Given the description of an element on the screen output the (x, y) to click on. 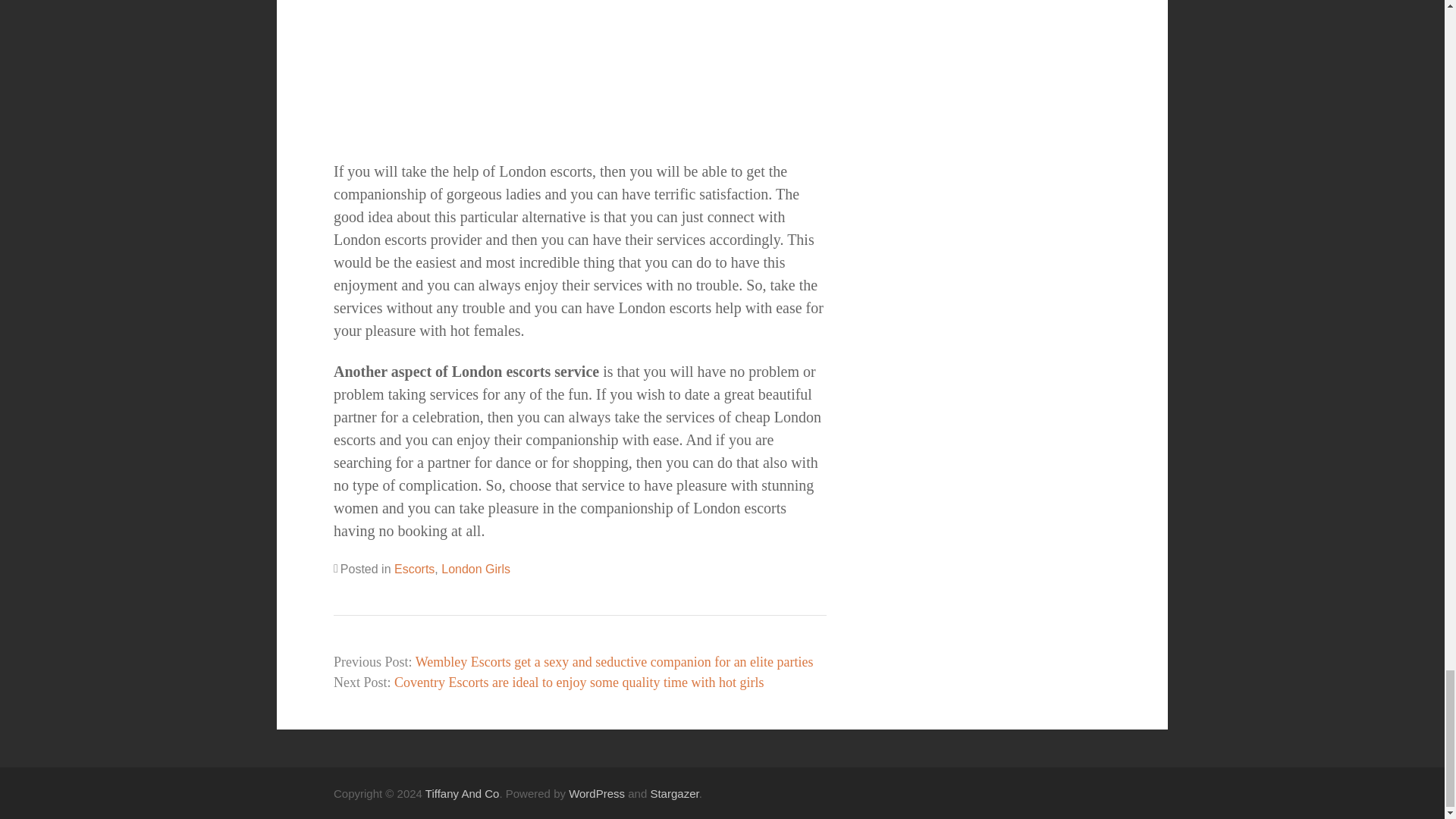
London Girls (476, 568)
Escorts (413, 568)
Tiffany And Co (462, 793)
